Given the description of an element on the screen output the (x, y) to click on. 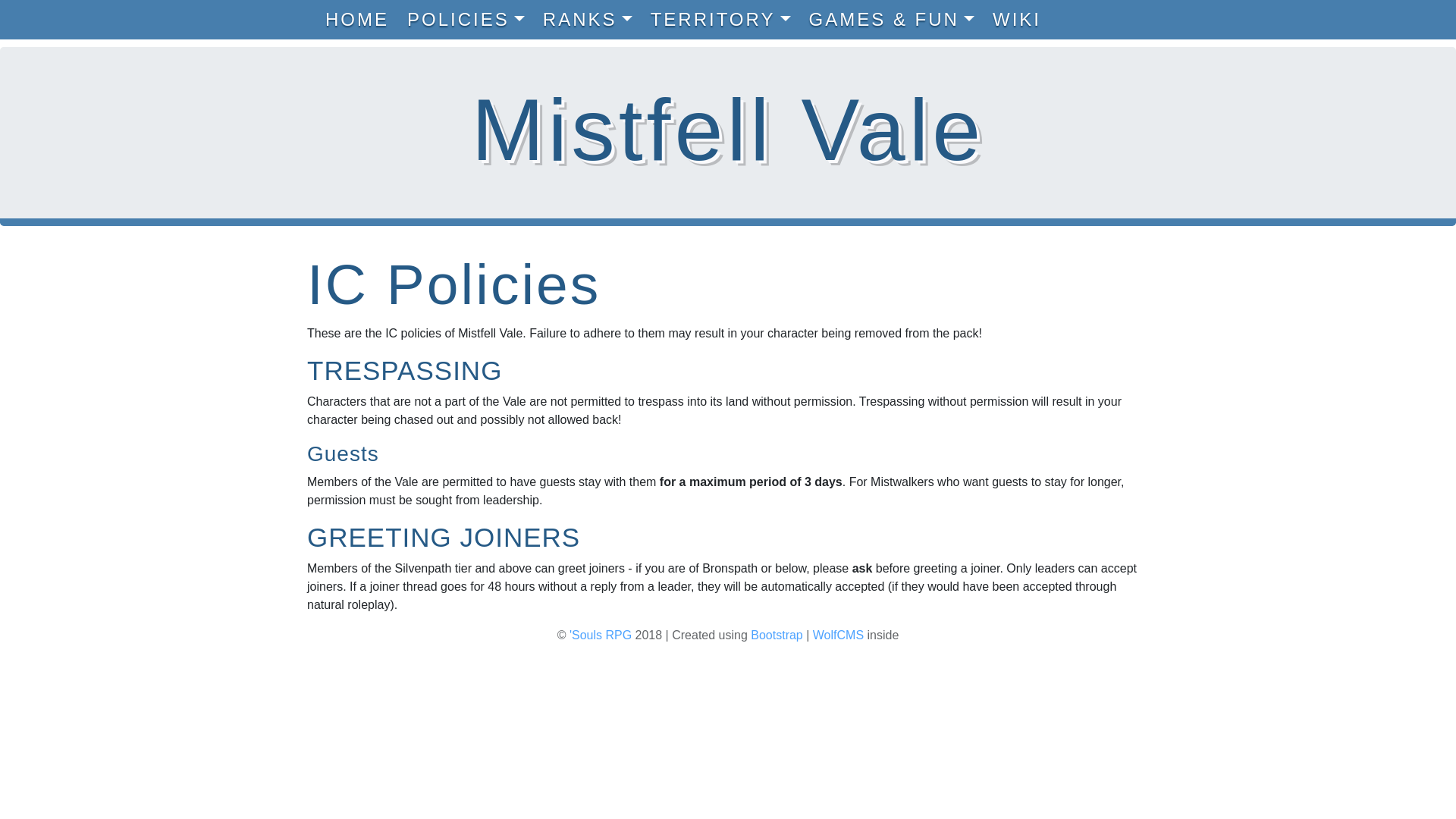
POLICIES (469, 19)
Bootstrap (776, 634)
WolfCMS (837, 634)
TERRITORY (724, 19)
HOME (359, 19)
TRESPASSING (404, 369)
WIKI (1019, 19)
RANKS (591, 19)
'Souls RPG (600, 634)
